Given the description of an element on the screen output the (x, y) to click on. 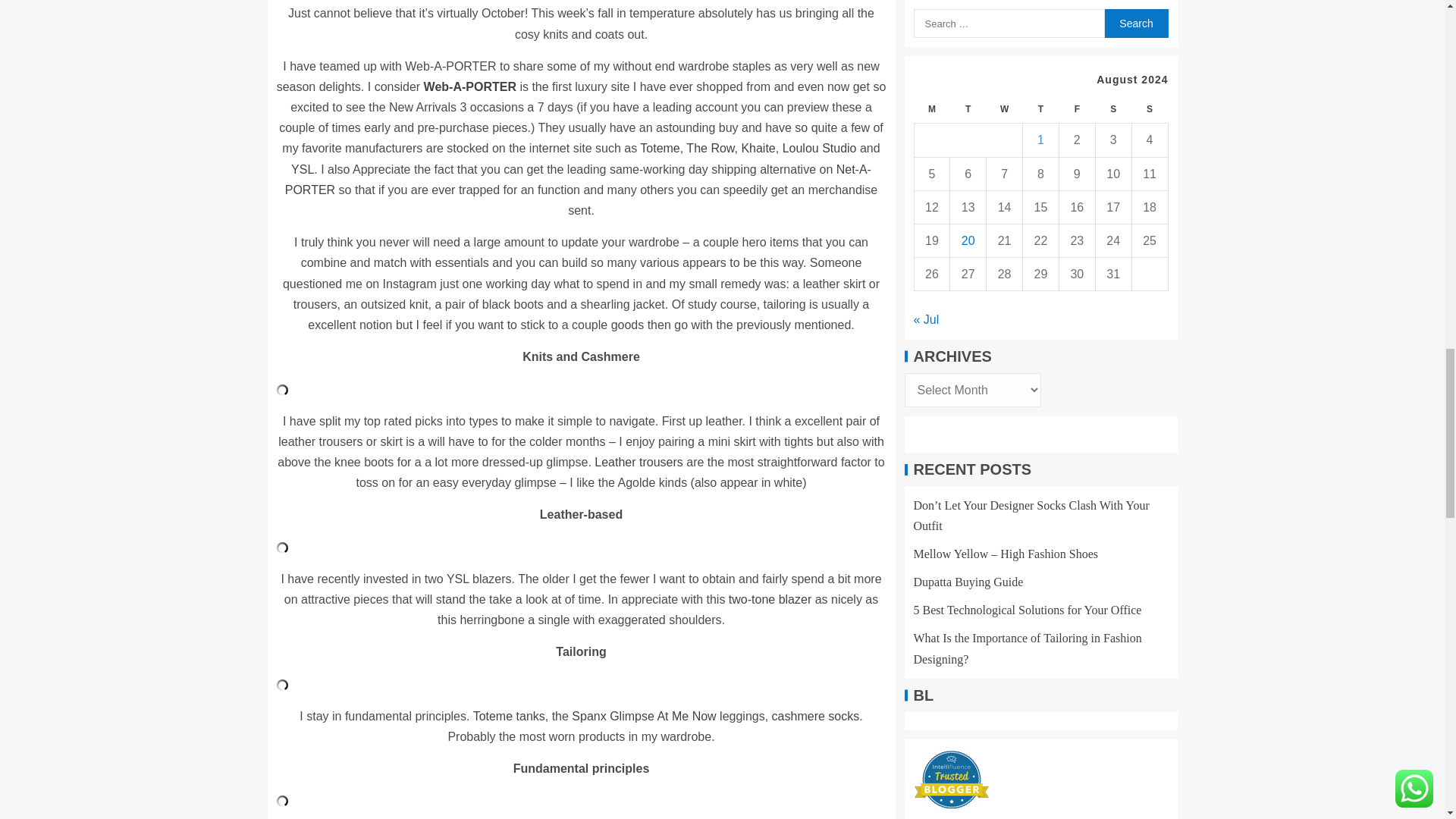
YSL (302, 169)
two-tone blazer (769, 599)
Loulou Studio (820, 147)
Khaite (757, 147)
Seedbacklink (925, 51)
The Row (709, 147)
Net-A-PORTER (577, 179)
Spanx Glimpse At Me Now (644, 716)
Toteme (659, 147)
cashmere socks (813, 716)
